Given the description of an element on the screen output the (x, y) to click on. 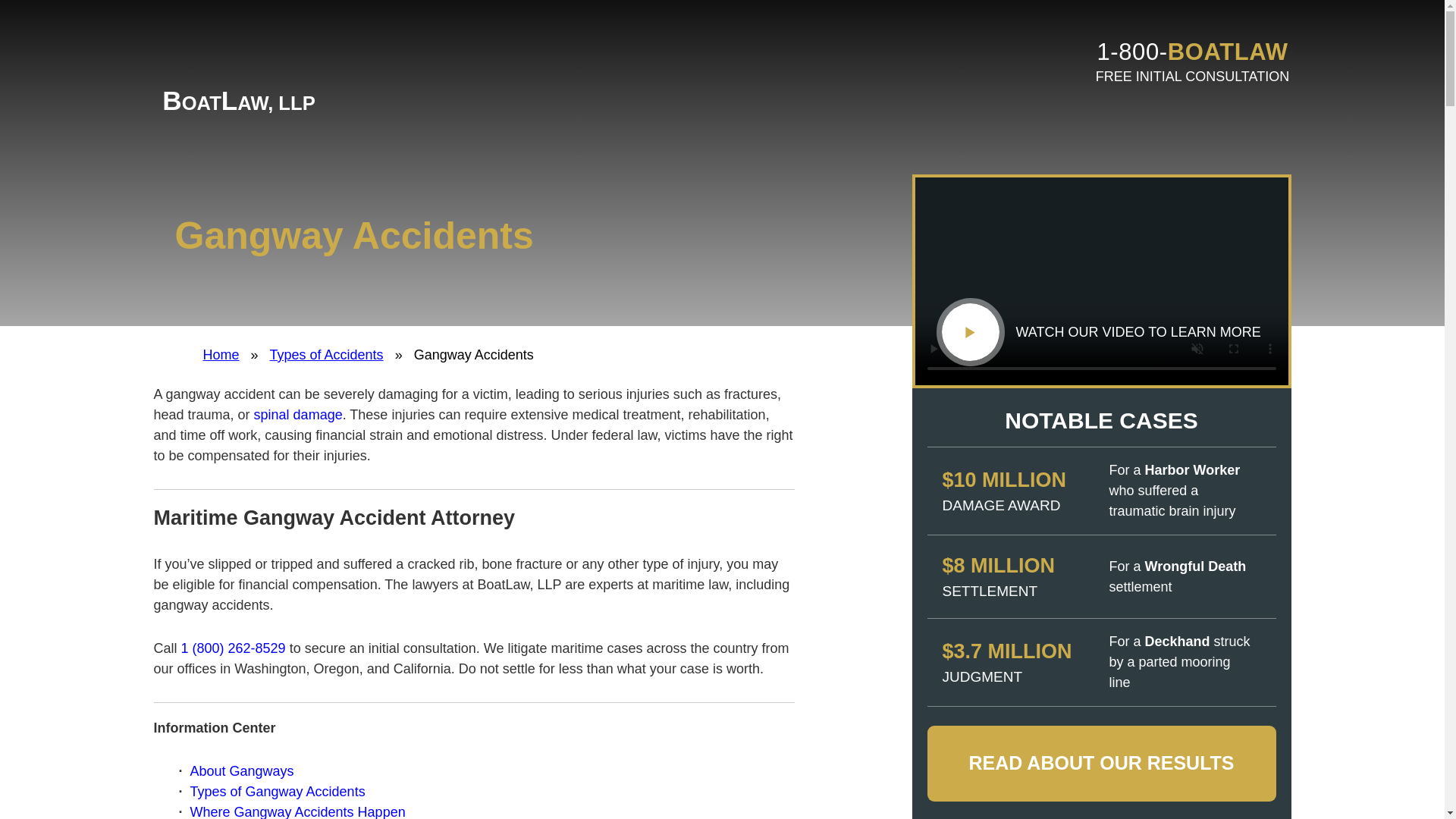
BOATLAW, LLP (237, 61)
